Given the description of an element on the screen output the (x, y) to click on. 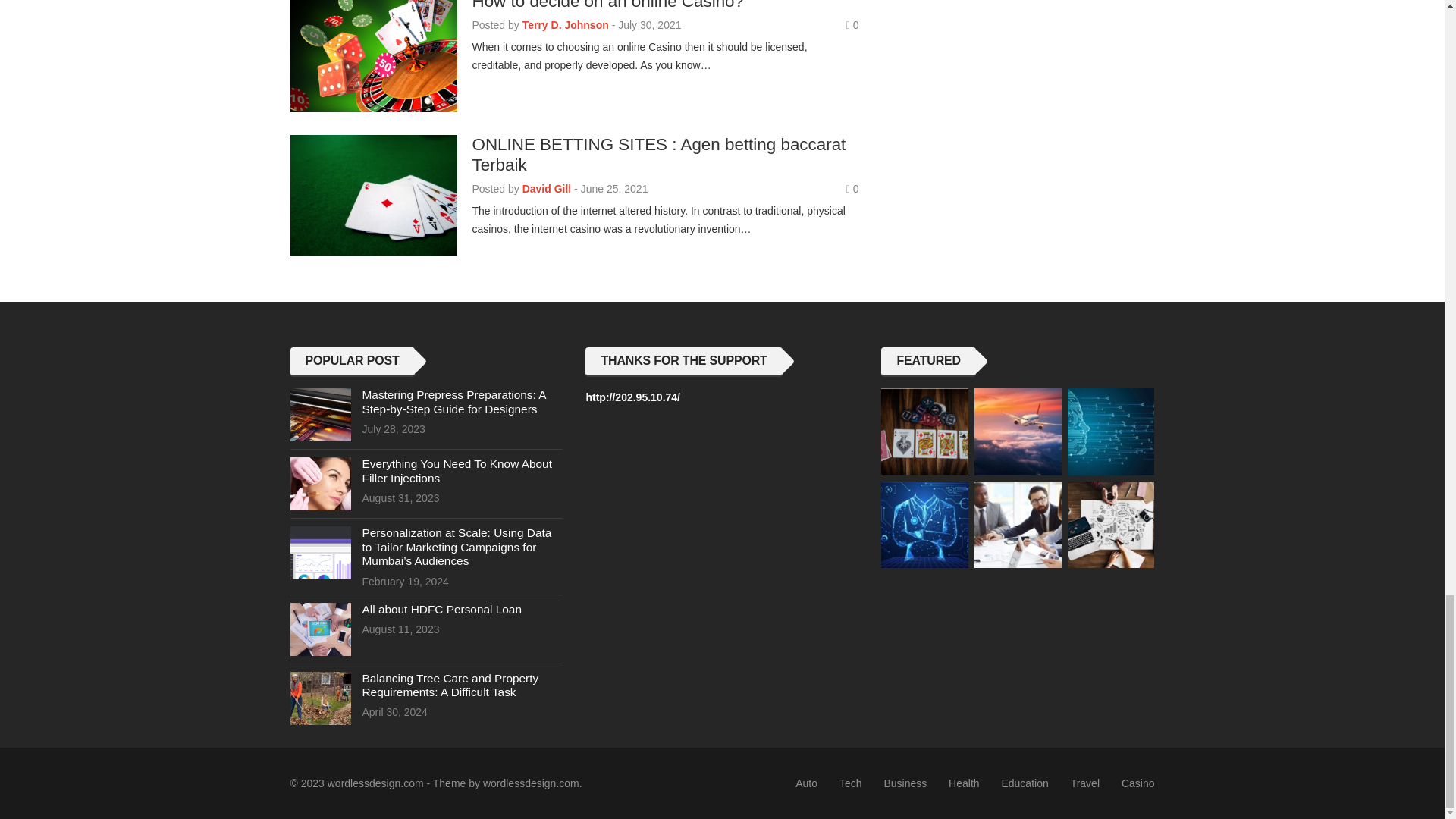
Posts by Terry D. Johnson (565, 24)
Posts by David Gill (547, 188)
